Given the description of an element on the screen output the (x, y) to click on. 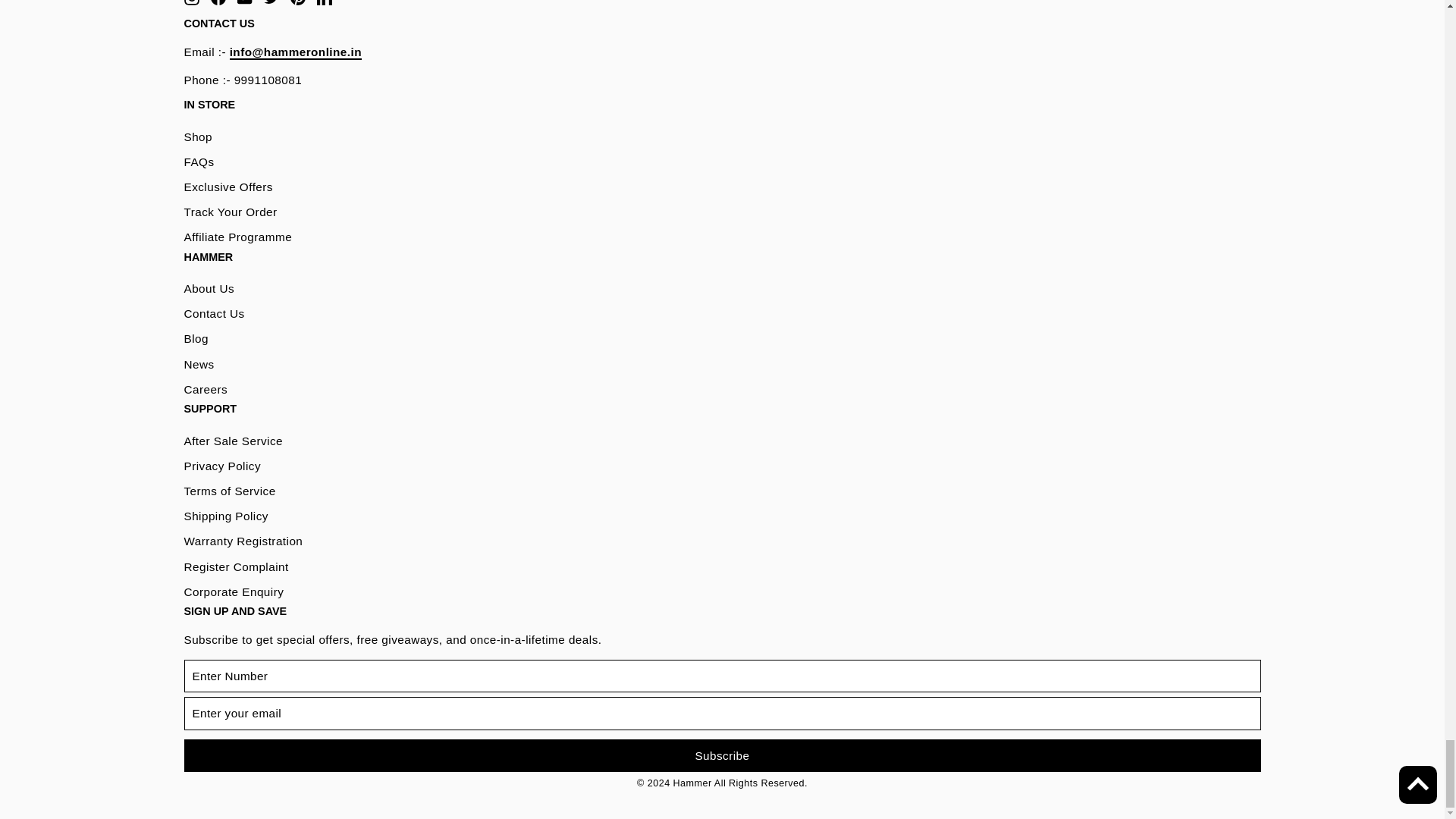
Hammer on Instagram (190, 3)
twitter (271, 2)
Hammer on LinkedIn (324, 3)
Hammer on Facebook (218, 3)
Hammer on Pinterest (296, 3)
Hammer on Twitter (271, 3)
instagram (190, 2)
Hammer on YouTube (243, 3)
